Given the description of an element on the screen output the (x, y) to click on. 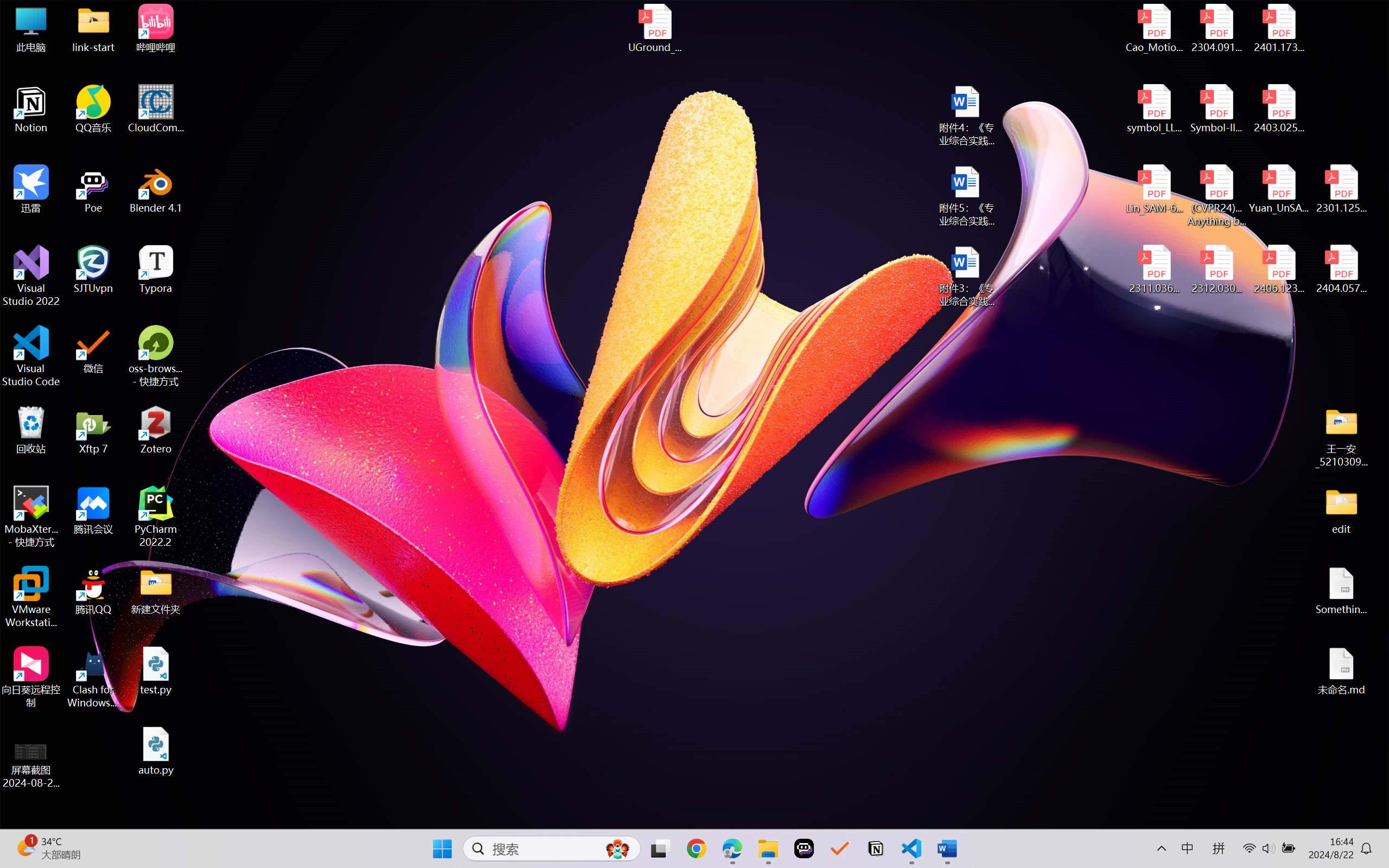
2301.12597v3.pdf (1340, 189)
2311.03658v2.pdf (1154, 269)
Xftp 7 (93, 430)
CloudCompare (156, 109)
Symbol-llm-v2.pdf (1216, 109)
symbol_LLM.pdf (1154, 109)
